Given the description of an element on the screen output the (x, y) to click on. 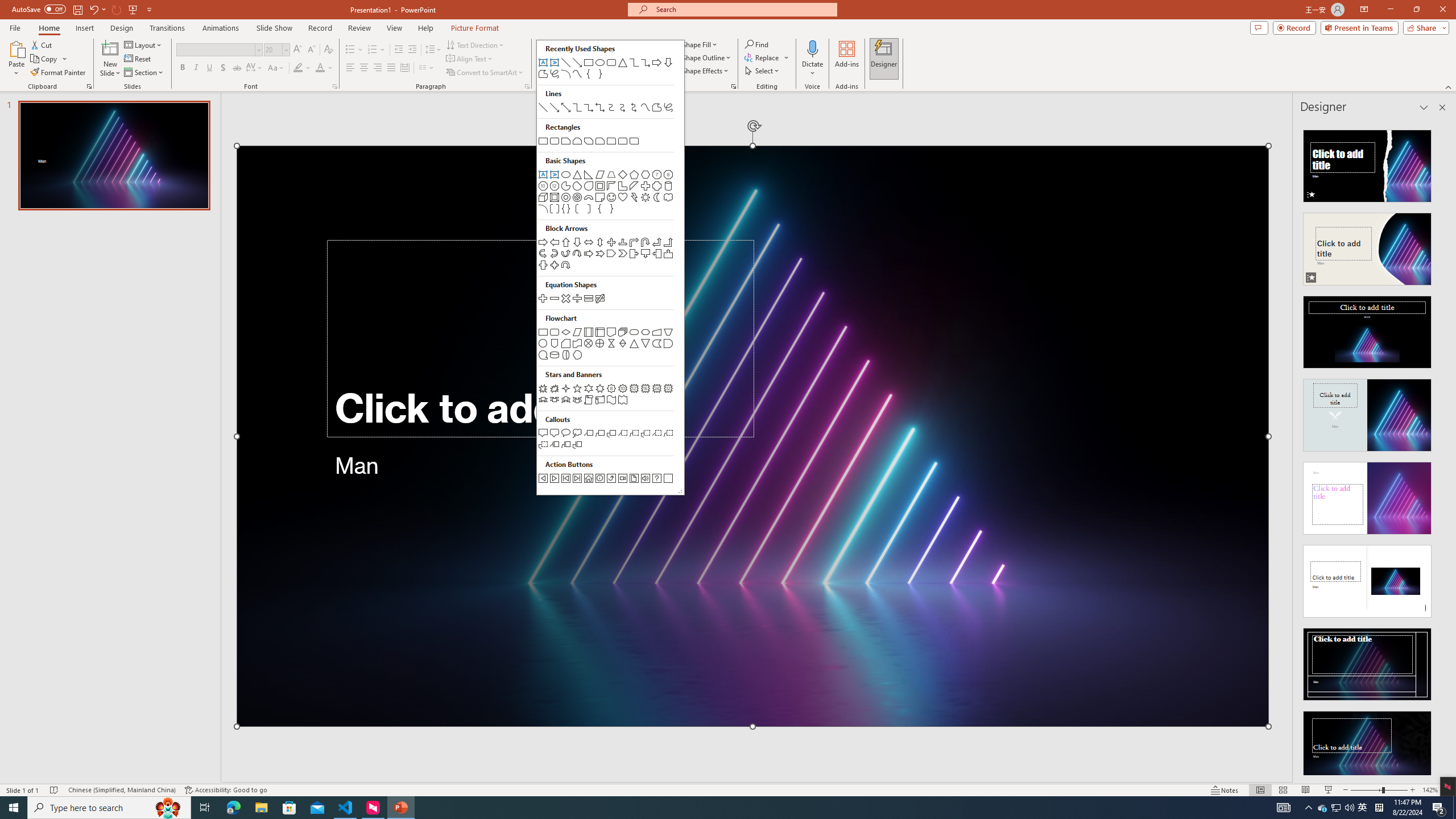
Transitions (167, 28)
Record (320, 28)
AutomationID: 4105 (1283, 807)
Notification Chevron (1308, 807)
Shadow (223, 67)
Cut (42, 44)
Action Center, 2 new notifications (1439, 807)
Line Spacing (433, 49)
Italic (195, 67)
Numbering (372, 49)
Recommended Design: Animation (1366, 162)
Copy (45, 58)
Spell Check No Errors (54, 790)
Distributed (404, 67)
View (395, 28)
